Given the description of an element on the screen output the (x, y) to click on. 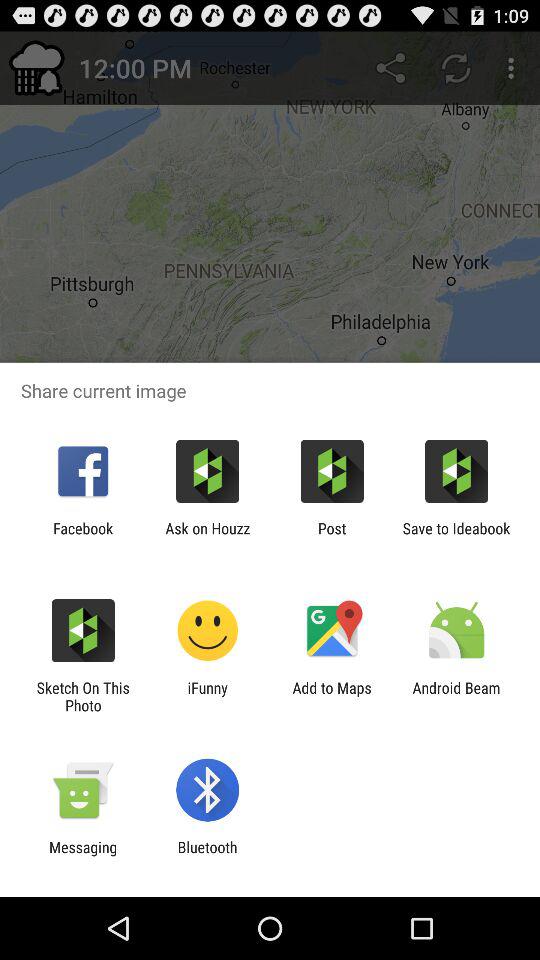
tap the app next to bluetooth icon (83, 856)
